Given the description of an element on the screen output the (x, y) to click on. 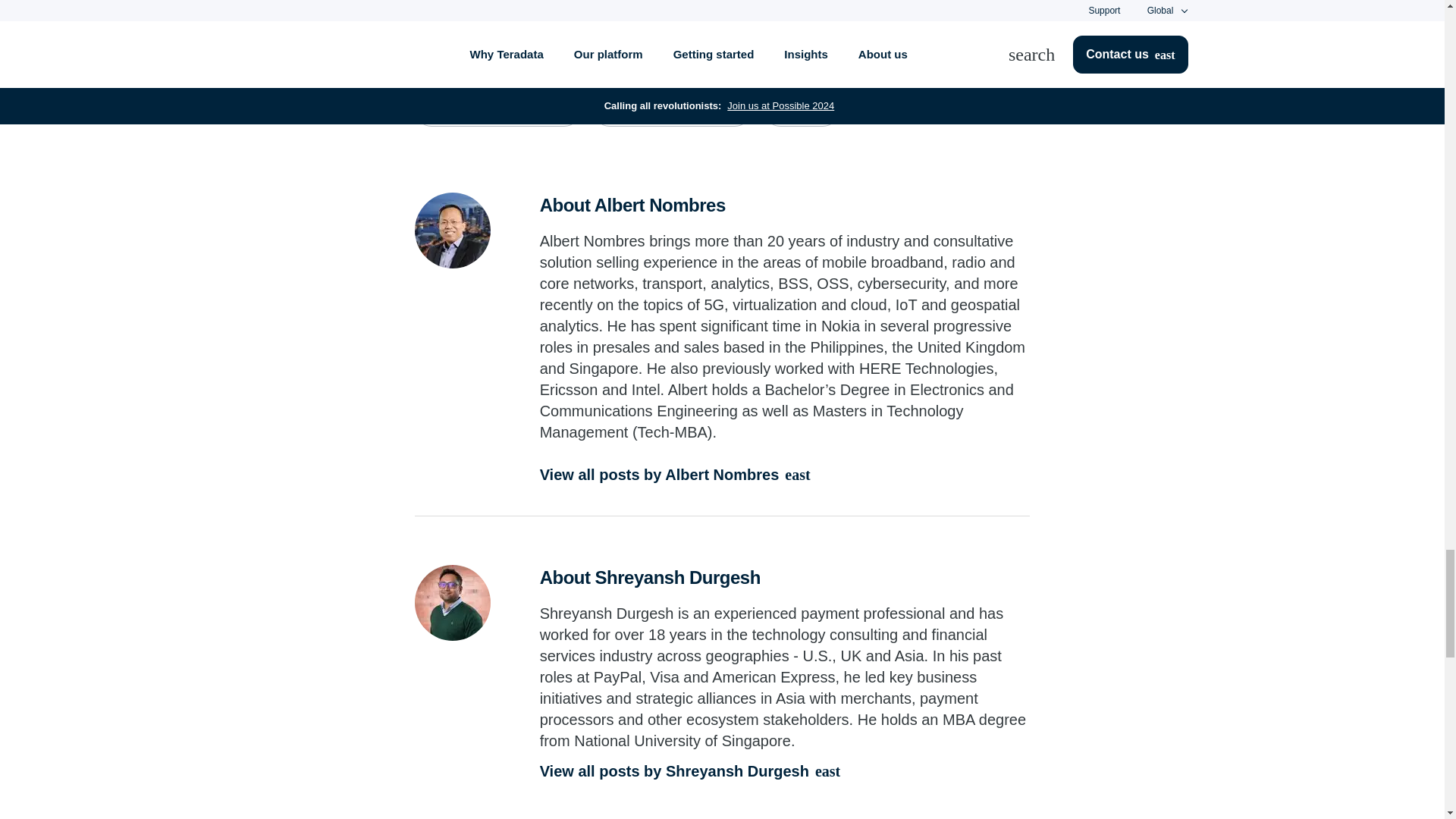
View all posts by Shreyansh Durgesh (785, 770)
Shreyansh Durgesh (452, 601)
View all posts by Albert Nombres (785, 474)
Albert Nombres (452, 230)
Articles (801, 109)
Cloud data analytics (671, 109)
Customer Experience (497, 109)
